Given the description of an element on the screen output the (x, y) to click on. 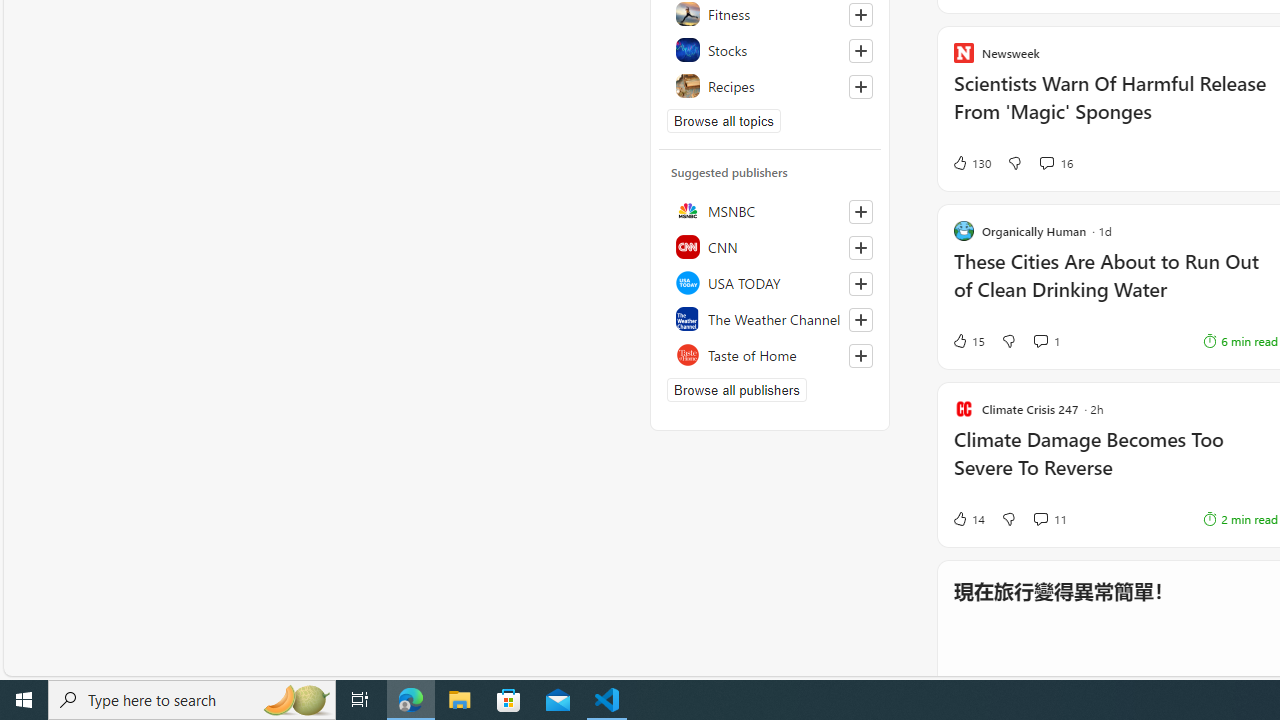
Follow this source (860, 355)
130 Like (970, 162)
Follow this source (860, 355)
View comments 16 Comment (1055, 162)
CNN (770, 246)
The Weather Channel (770, 318)
Browse all publishers (736, 389)
Recipes (770, 85)
Stocks (770, 49)
Follow this topic (860, 86)
USA TODAY (770, 282)
View comments 16 Comment (1046, 162)
Climate Damage Becomes Too Severe To Reverse (1115, 463)
